Given the description of an element on the screen output the (x, y) to click on. 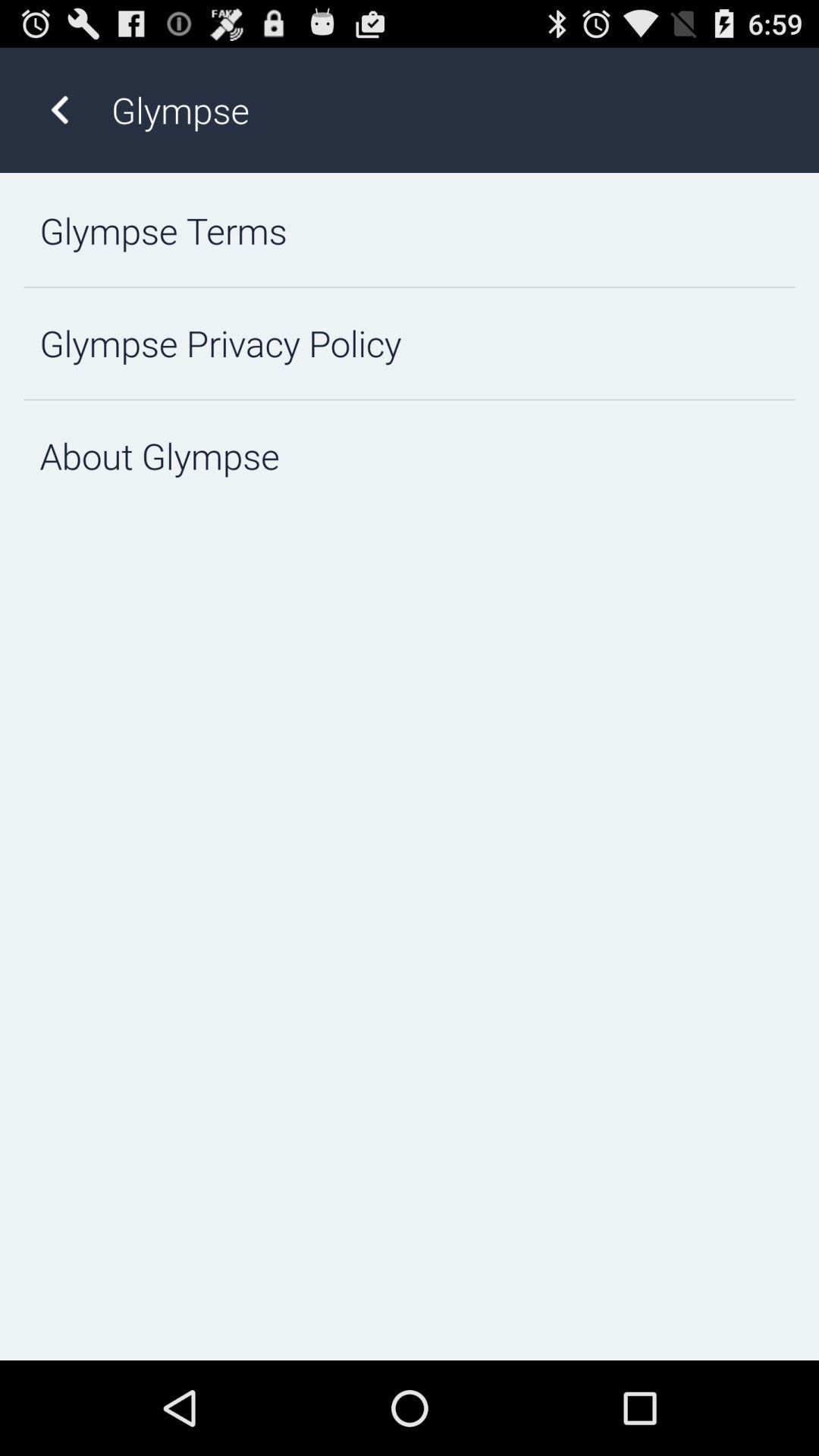
select the icon to the left of glympse (59, 109)
